Given the description of an element on the screen output the (x, y) to click on. 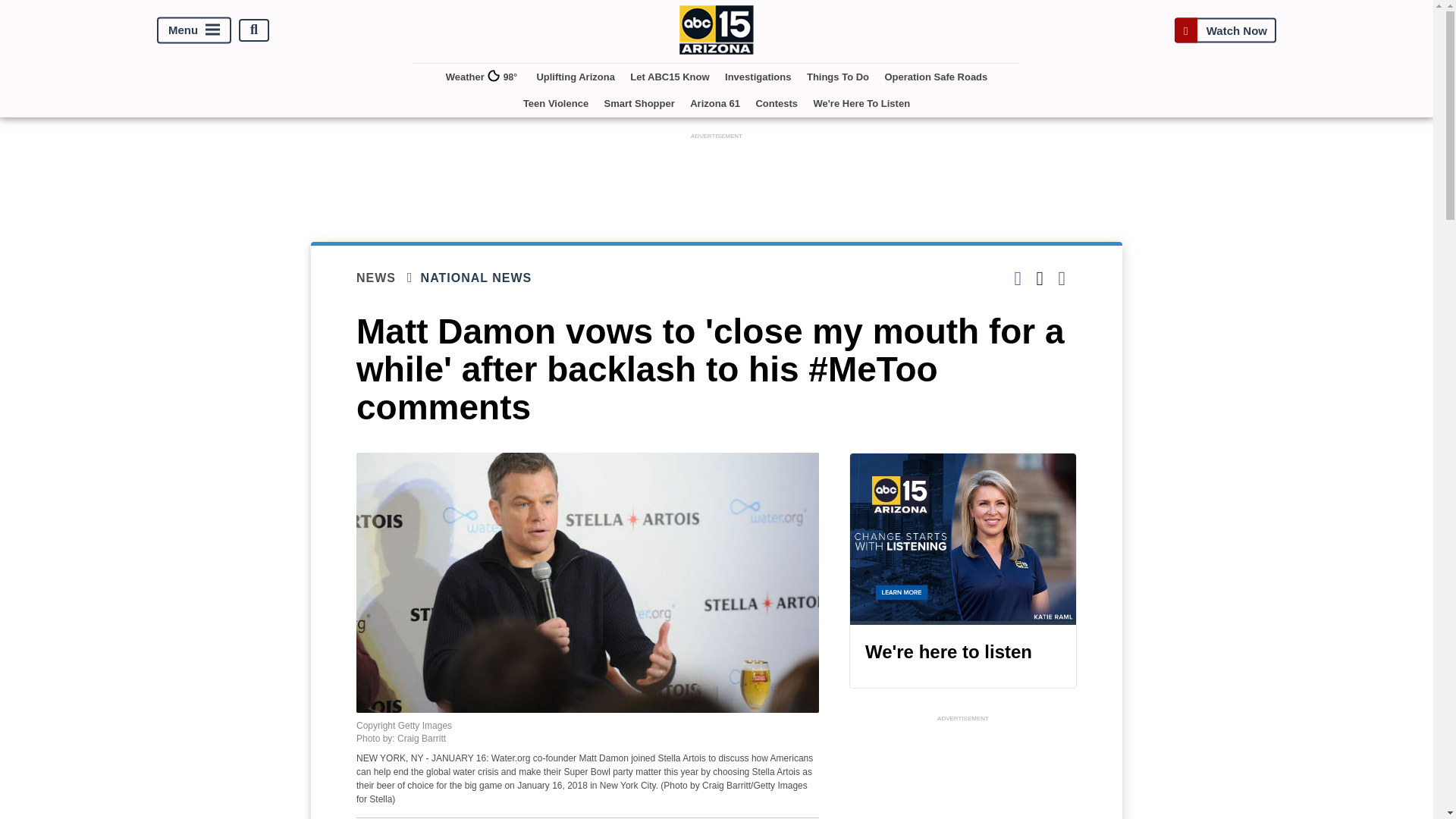
Menu (194, 29)
3rd party ad content (962, 771)
3rd party ad content (716, 177)
Watch Now (1224, 29)
